Given the description of an element on the screen output the (x, y) to click on. 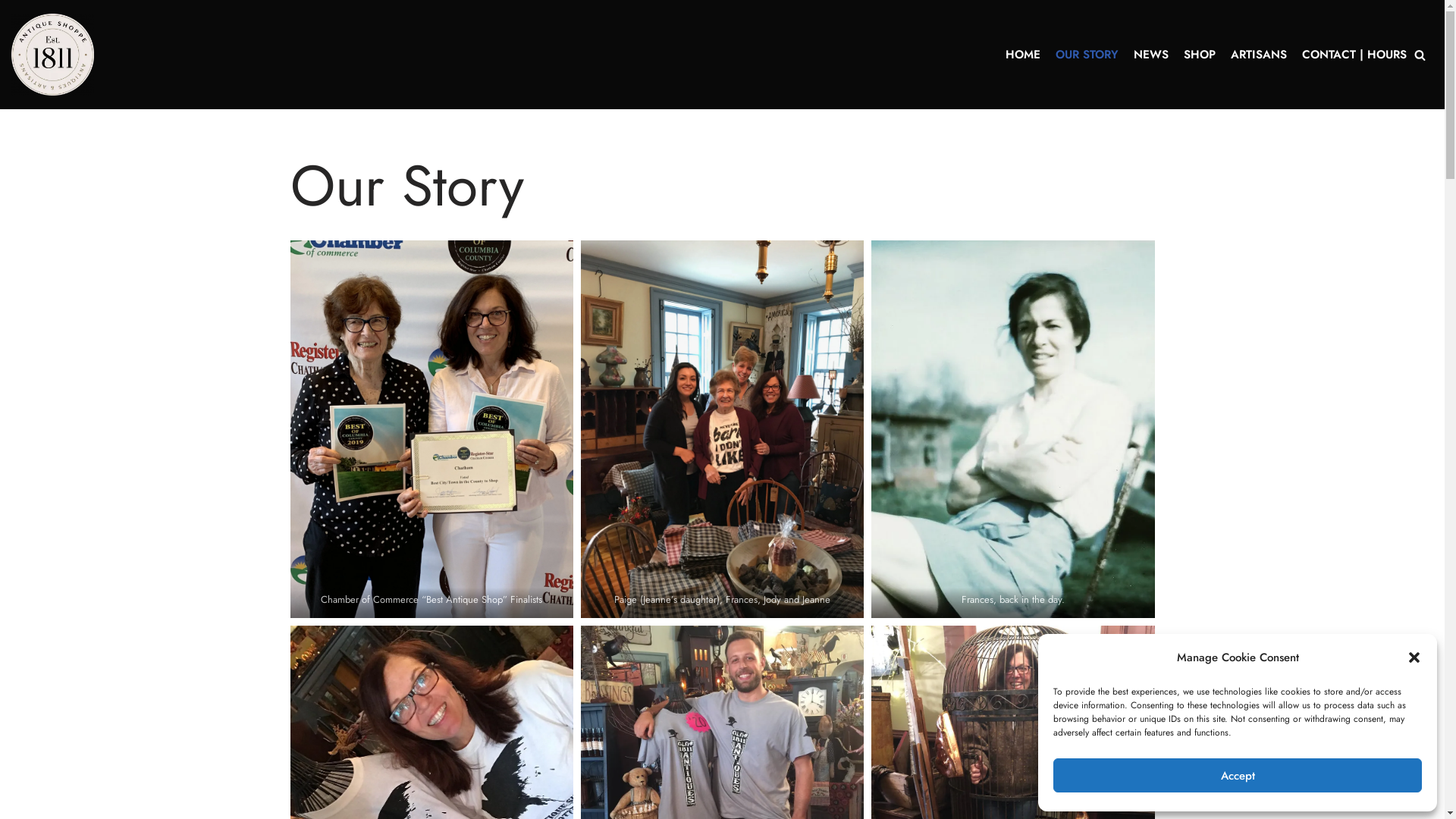
ARTISANS Element type: text (1258, 54)
NEWS Element type: text (1150, 54)
HOME Element type: text (1022, 54)
SHOP Element type: text (1199, 54)
Olde 1811 Antique Shoppe Element type: hover (52, 54)
CONTACT | HOURS Element type: text (1354, 54)
Skip to content Element type: text (11, 31)
OUR STORY Element type: text (1086, 54)
Accept Element type: text (1237, 775)
